Given the description of an element on the screen output the (x, y) to click on. 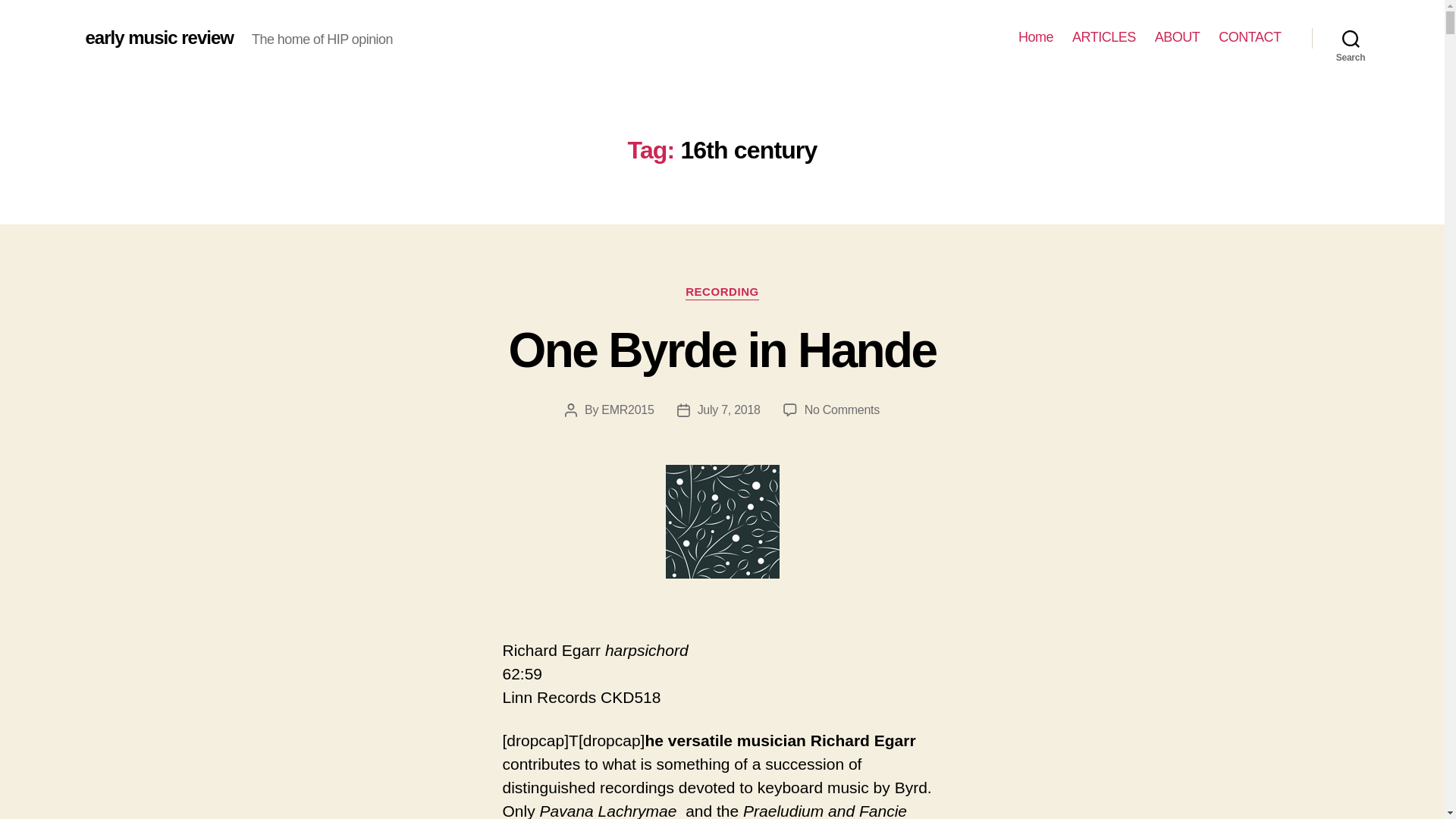
Home (1034, 37)
ABOUT (1176, 37)
Search (1350, 37)
CONTACT (1249, 37)
July 7, 2018 (728, 409)
ARTICLES (1103, 37)
RECORDING (721, 292)
early music review (158, 37)
One Byrde in Hande (722, 349)
